Given the description of an element on the screen output the (x, y) to click on. 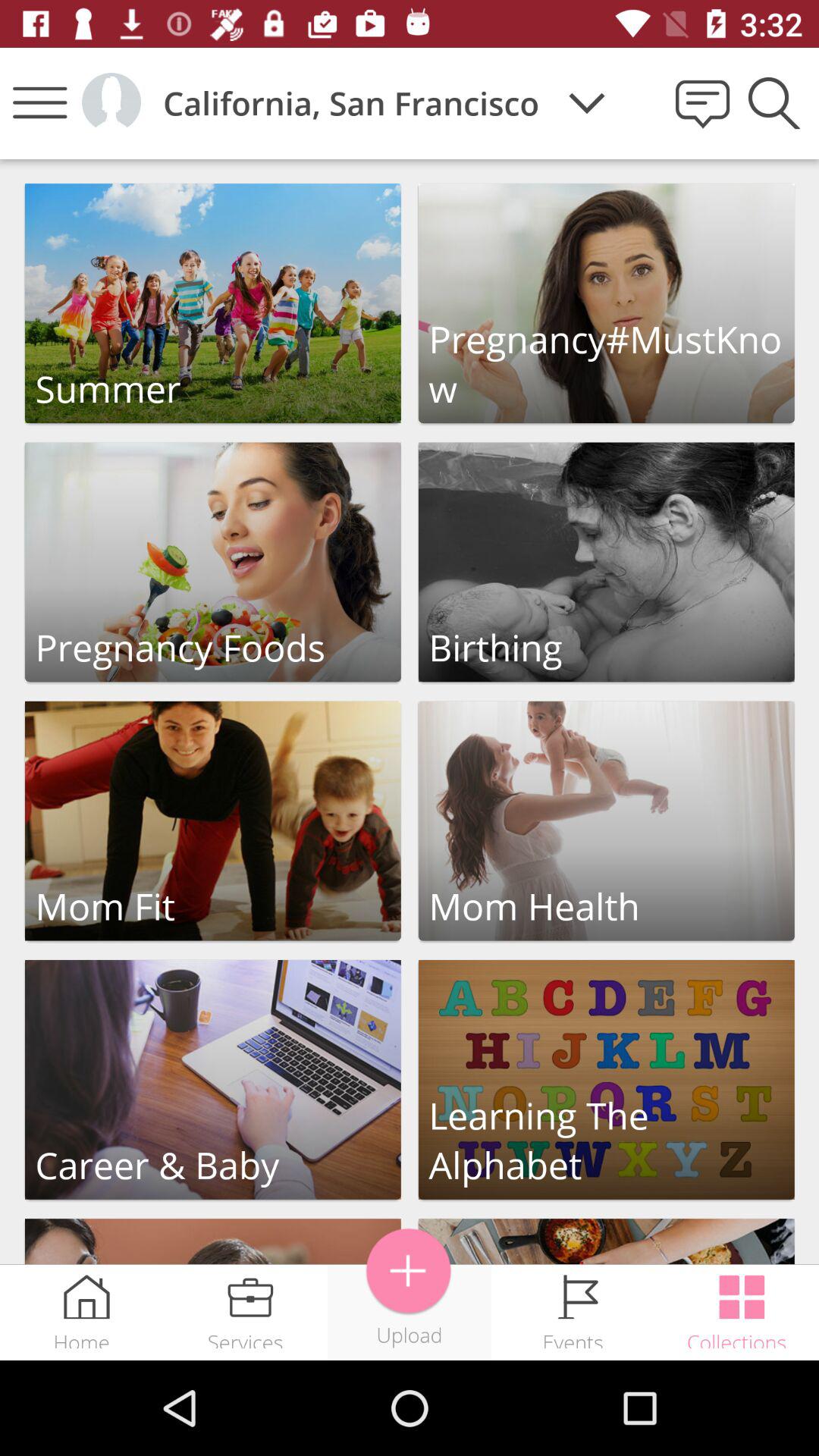
summer option (212, 303)
